Given the description of an element on the screen output the (x, y) to click on. 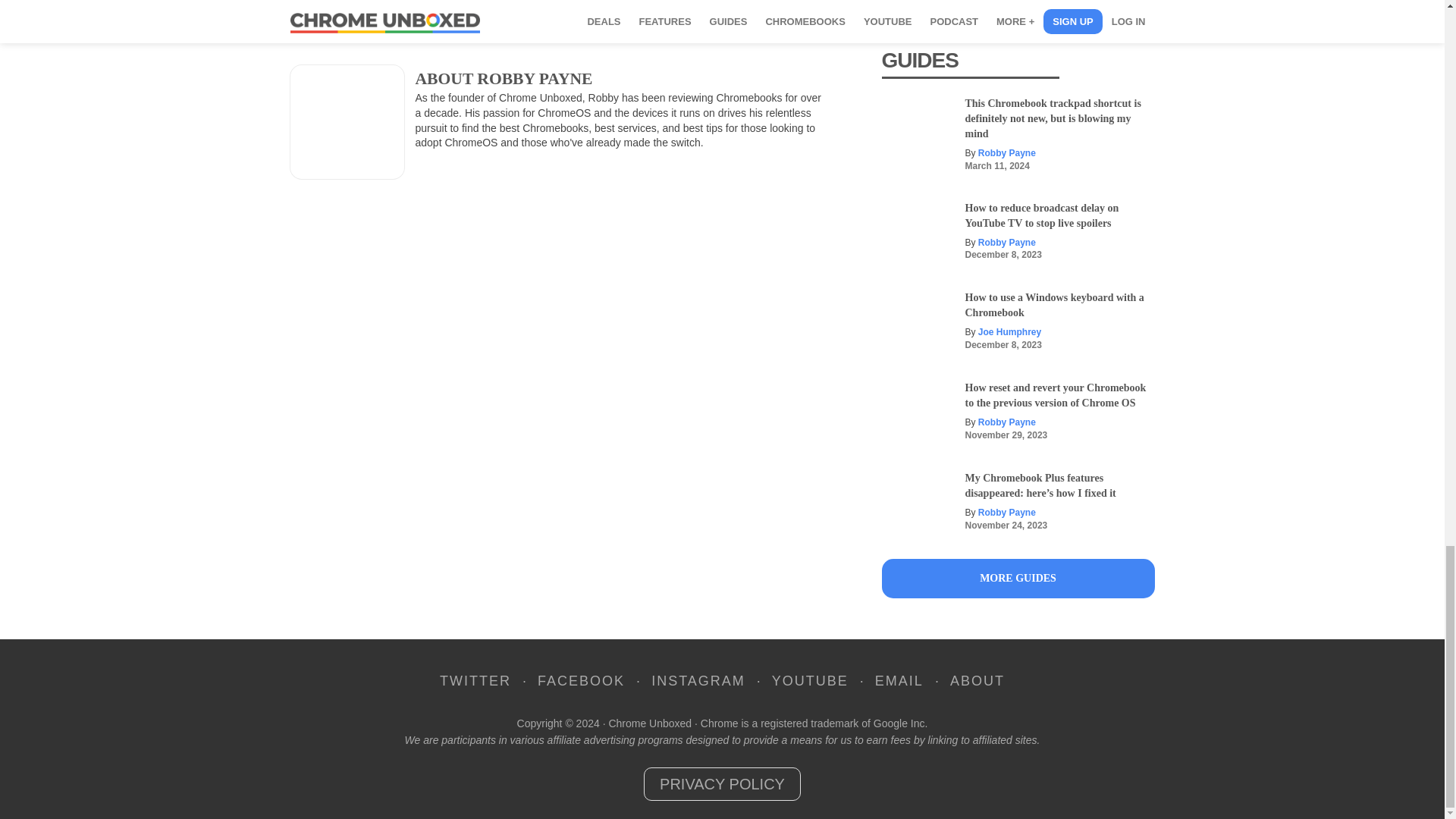
Guides and How-To's (1017, 578)
